Given the description of an element on the screen output the (x, y) to click on. 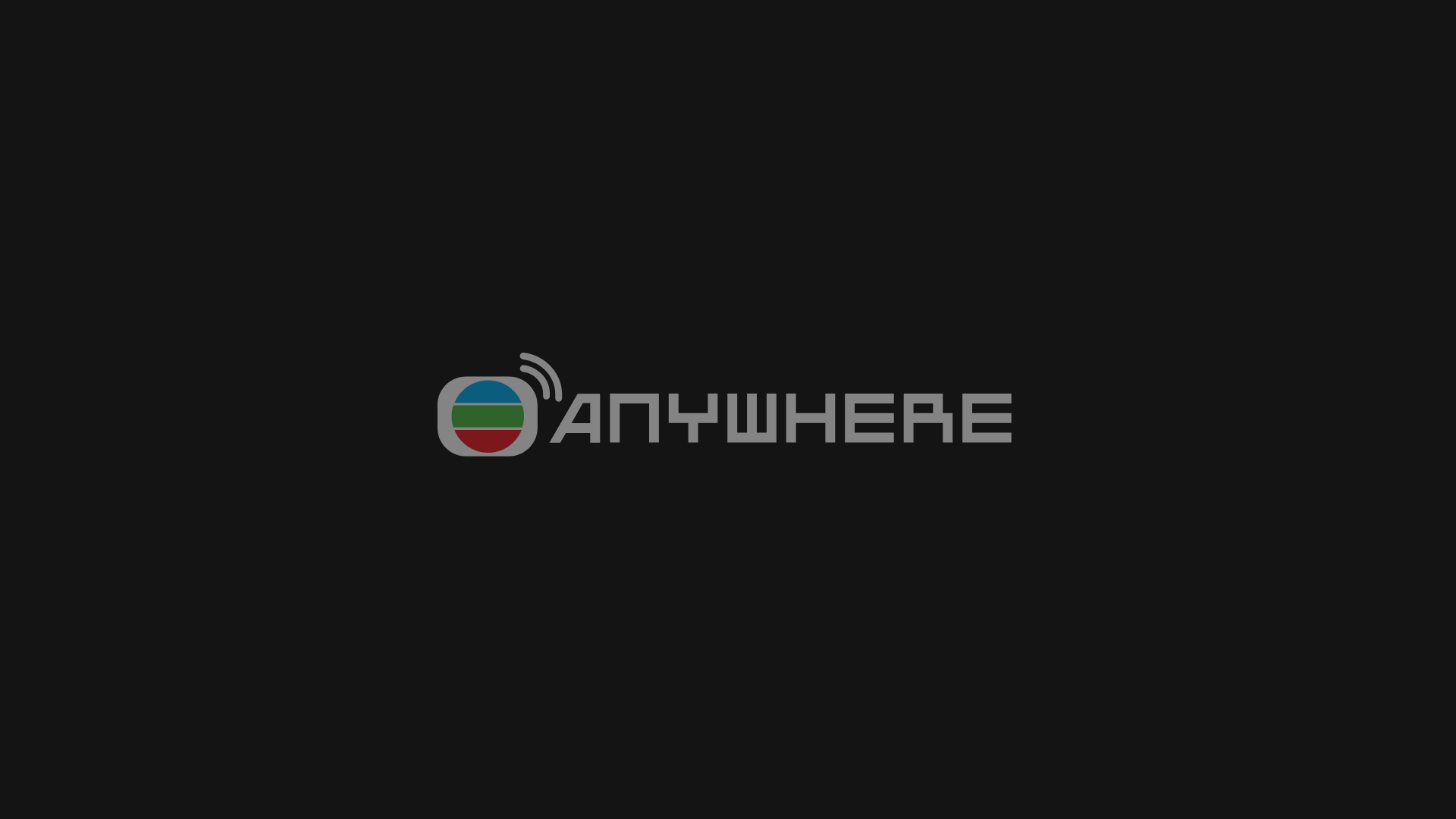
tvb anywhere logo Element type: hover (727, 409)
